Given the description of an element on the screen output the (x, y) to click on. 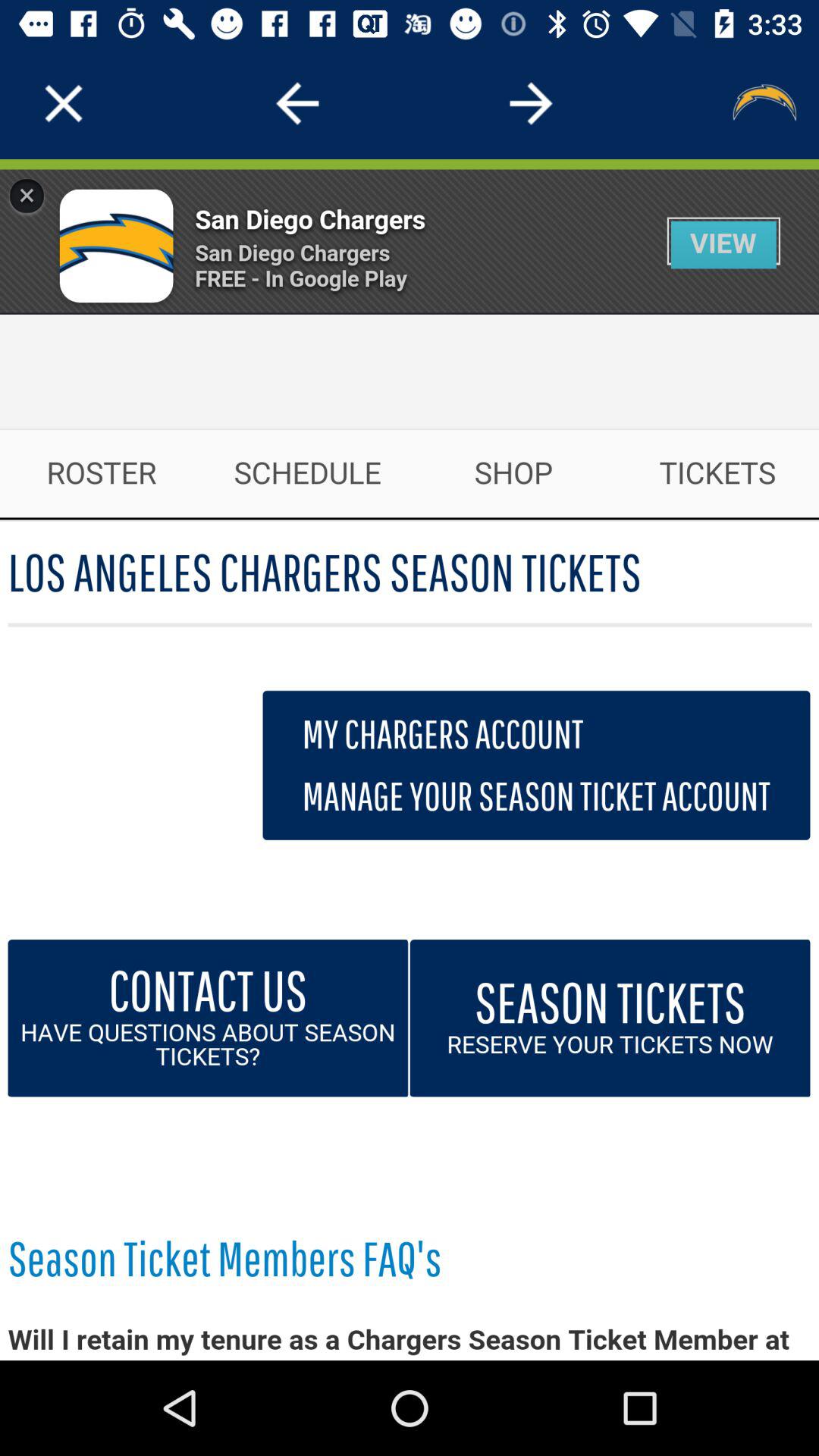
open icon at the center (409, 759)
